Given the description of an element on the screen output the (x, y) to click on. 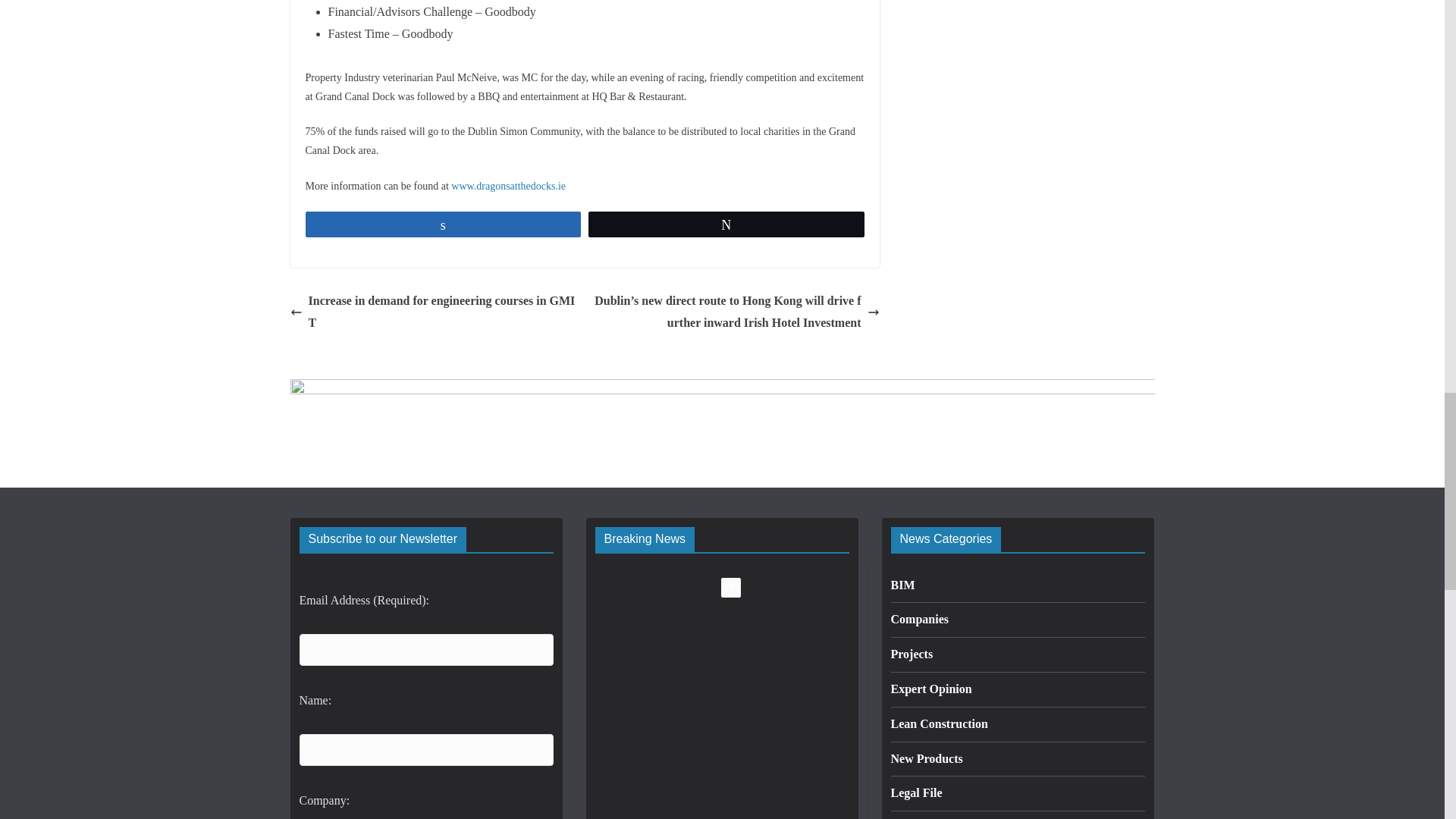
Increase in demand for engineering courses in GMIT (432, 312)
www.dragonsatthedocks.ie (508, 185)
